Given the description of an element on the screen output the (x, y) to click on. 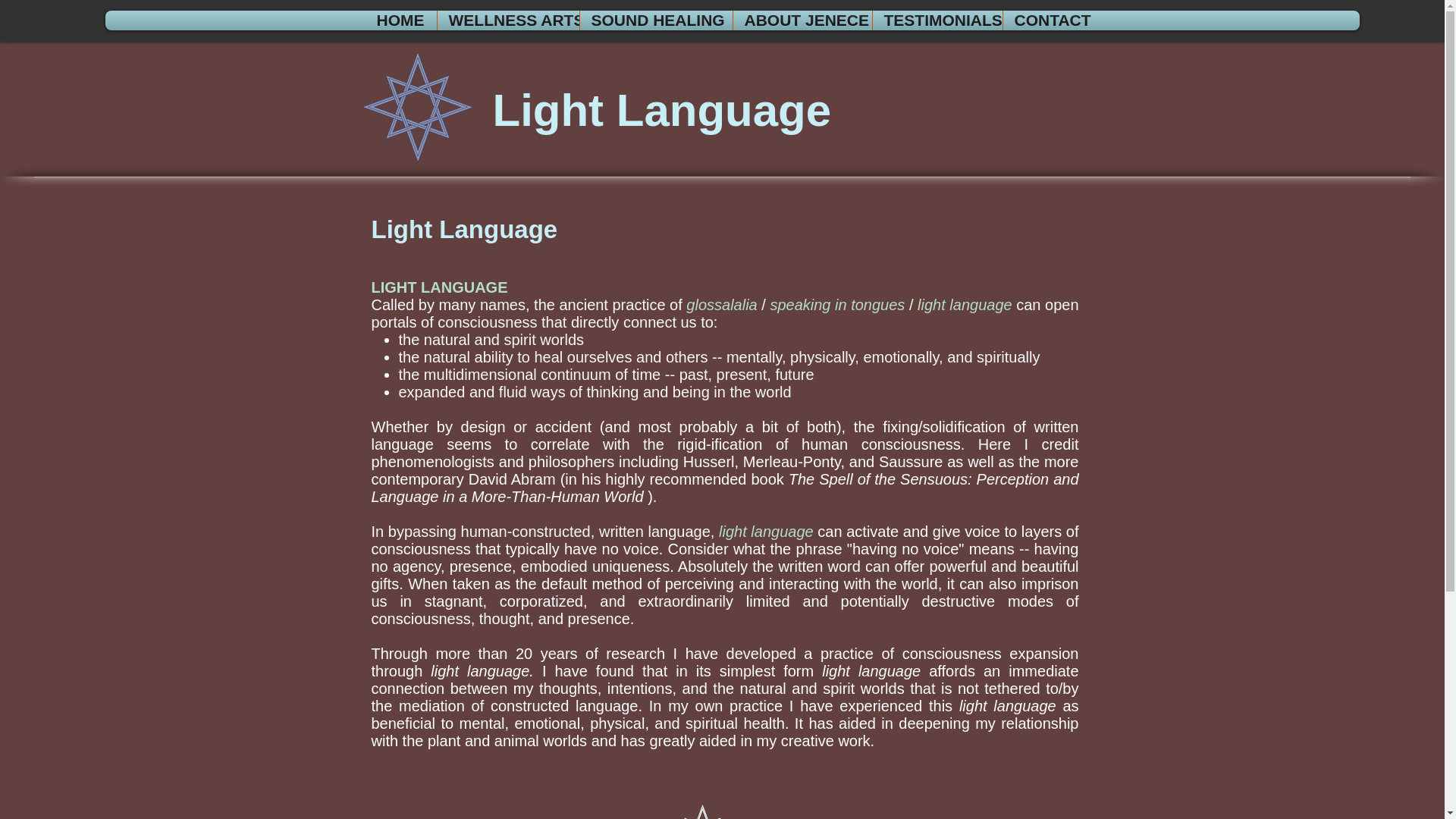
HOME (400, 20)
SOUND HEALING (656, 20)
WELLNESS ARTS (508, 20)
ABOUT JENECE (801, 20)
CONTACT (1051, 20)
TESTIMONIALS (937, 20)
